Given the description of an element on the screen output the (x, y) to click on. 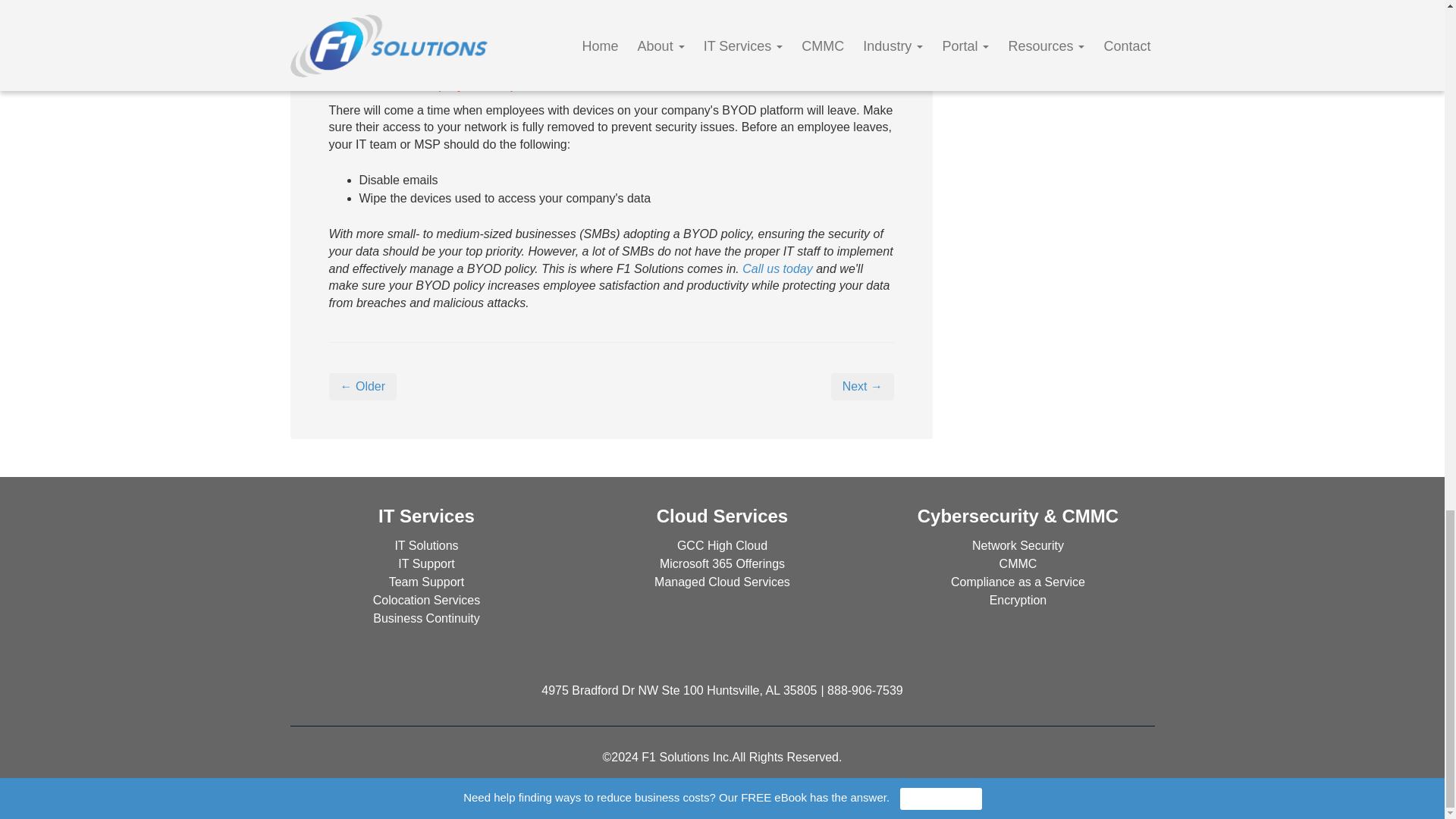
Call us today (777, 268)
